Given the description of an element on the screen output the (x, y) to click on. 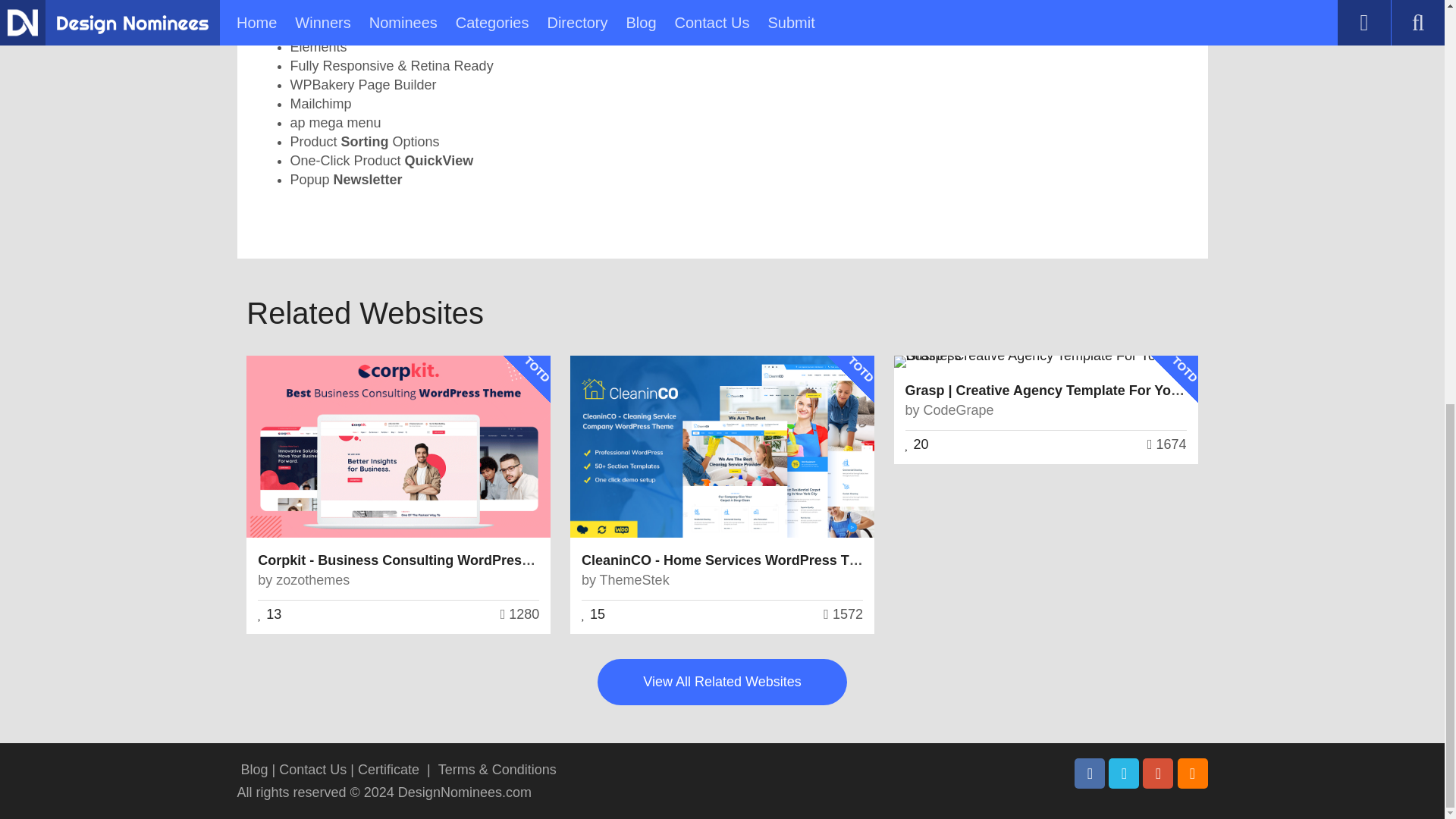
Pinterest (1157, 773)
Facebook (1089, 773)
Twitter (1123, 773)
Rss (1191, 773)
